Given the description of an element on the screen output the (x, y) to click on. 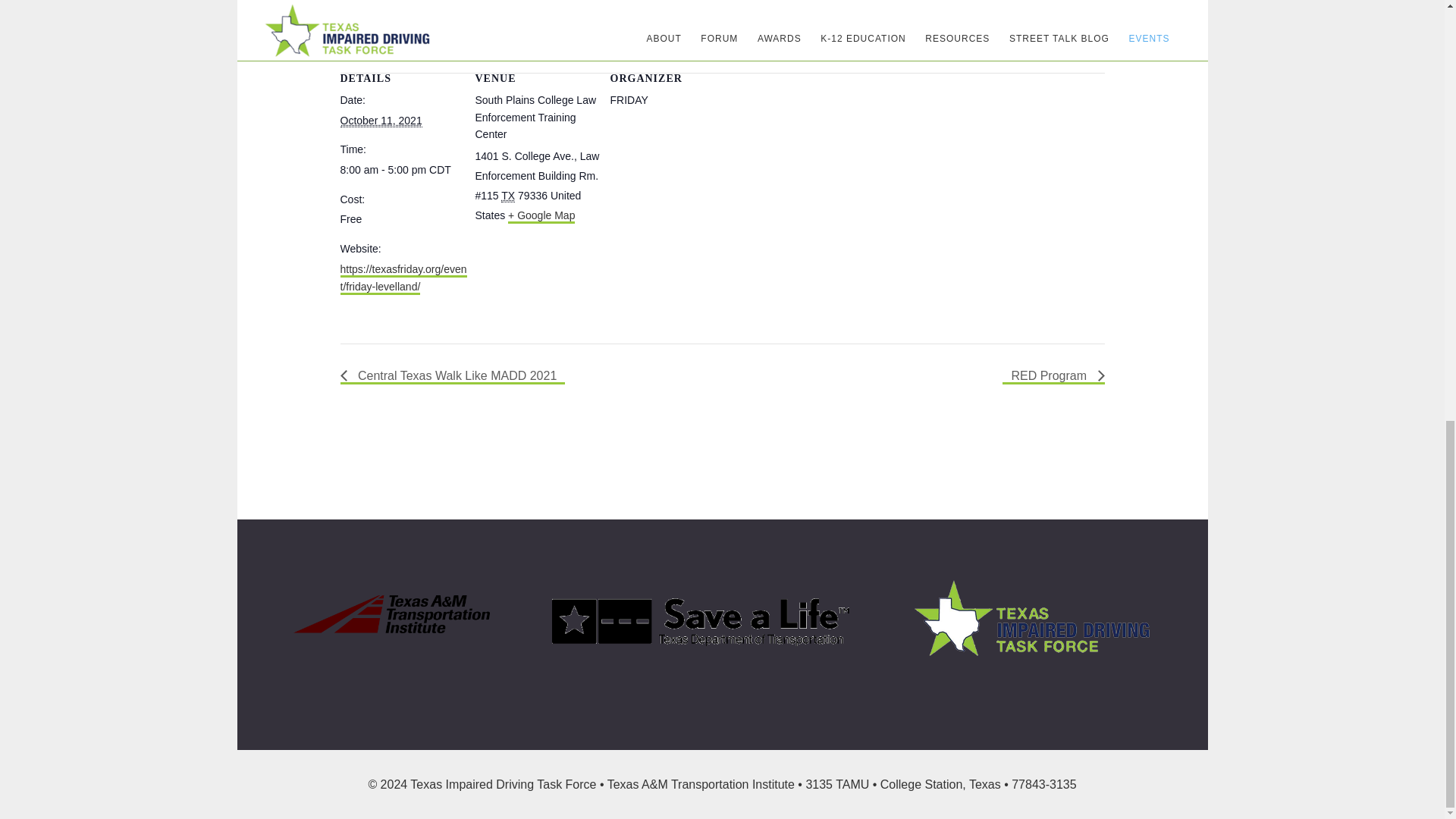
2021-10-11 (380, 120)
Texas (507, 195)
RED Program (1053, 376)
Central Texas Walk Like MADD 2021 (451, 376)
Click to view a Google Map (541, 216)
2021-10-11 (403, 170)
ADD TO CALENDAR (415, 8)
